Given the description of an element on the screen output the (x, y) to click on. 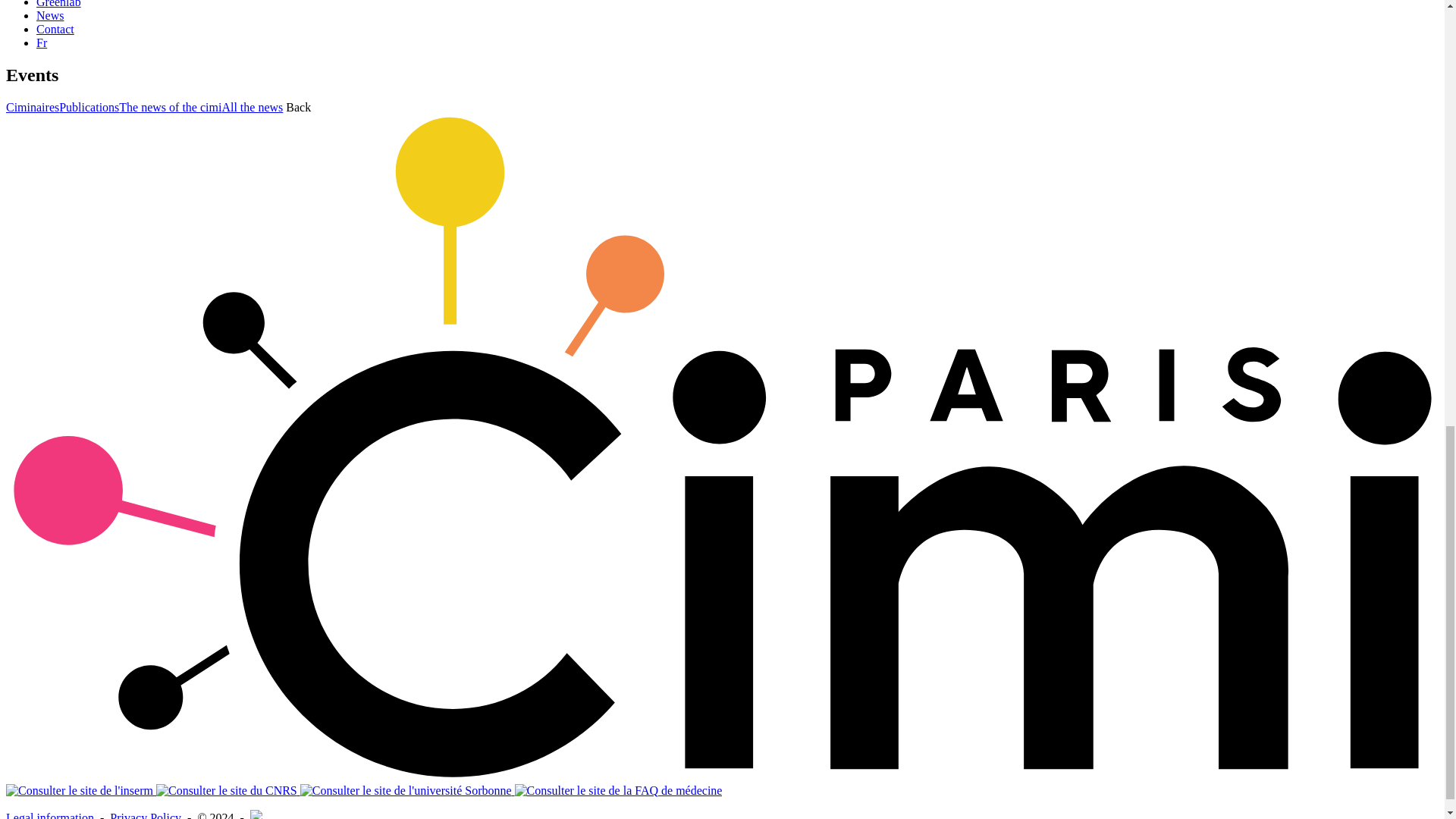
Greenlab (58, 4)
Ciminaires (32, 106)
News (50, 15)
Contact (55, 29)
All the news (251, 106)
Back (298, 106)
The news of the cimi (170, 106)
Publications (89, 106)
